Given the description of an element on the screen output the (x, y) to click on. 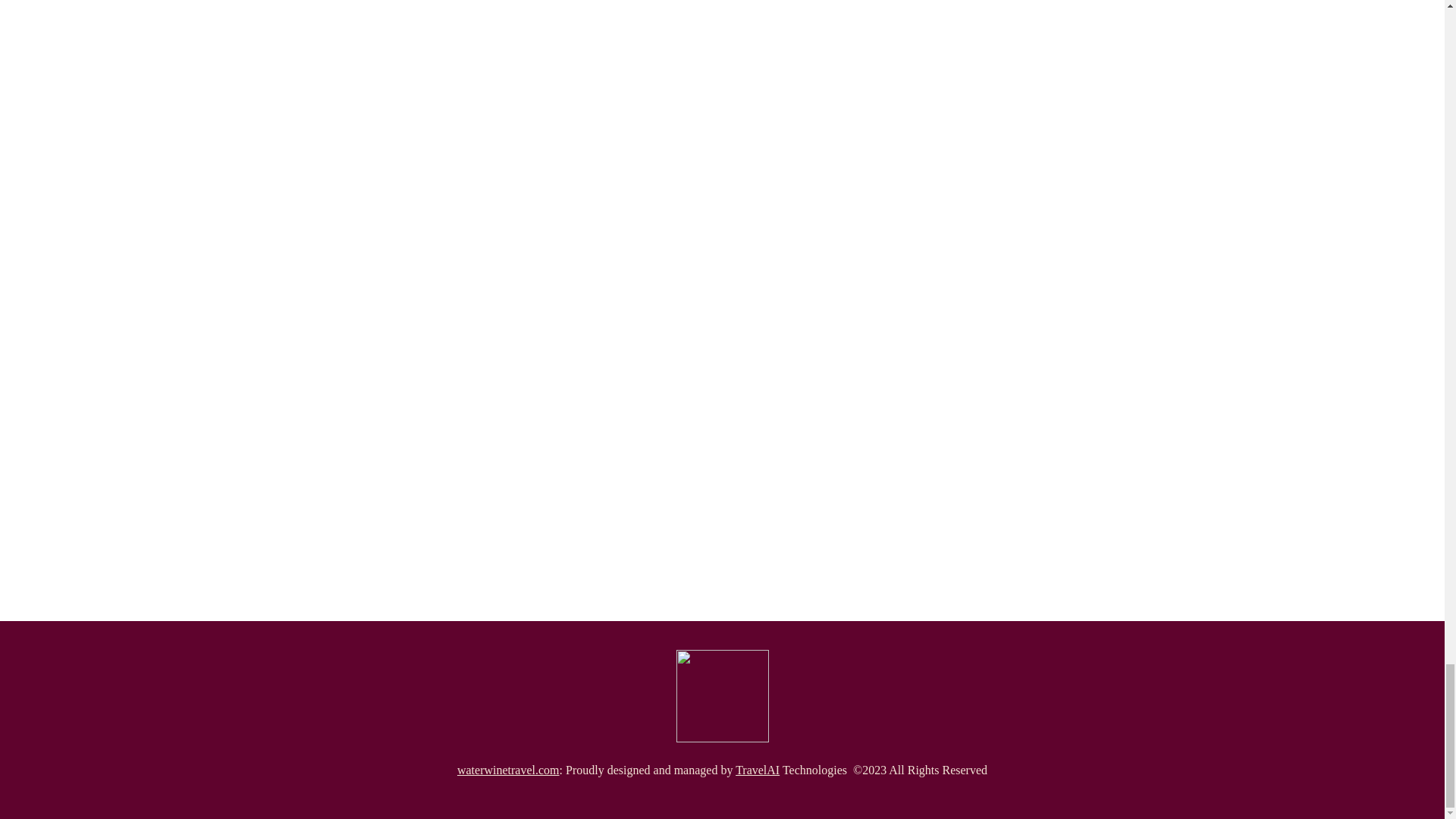
waterwinetravel.com (508, 769)
TravelAI (756, 769)
